Given the description of an element on the screen output the (x, y) to click on. 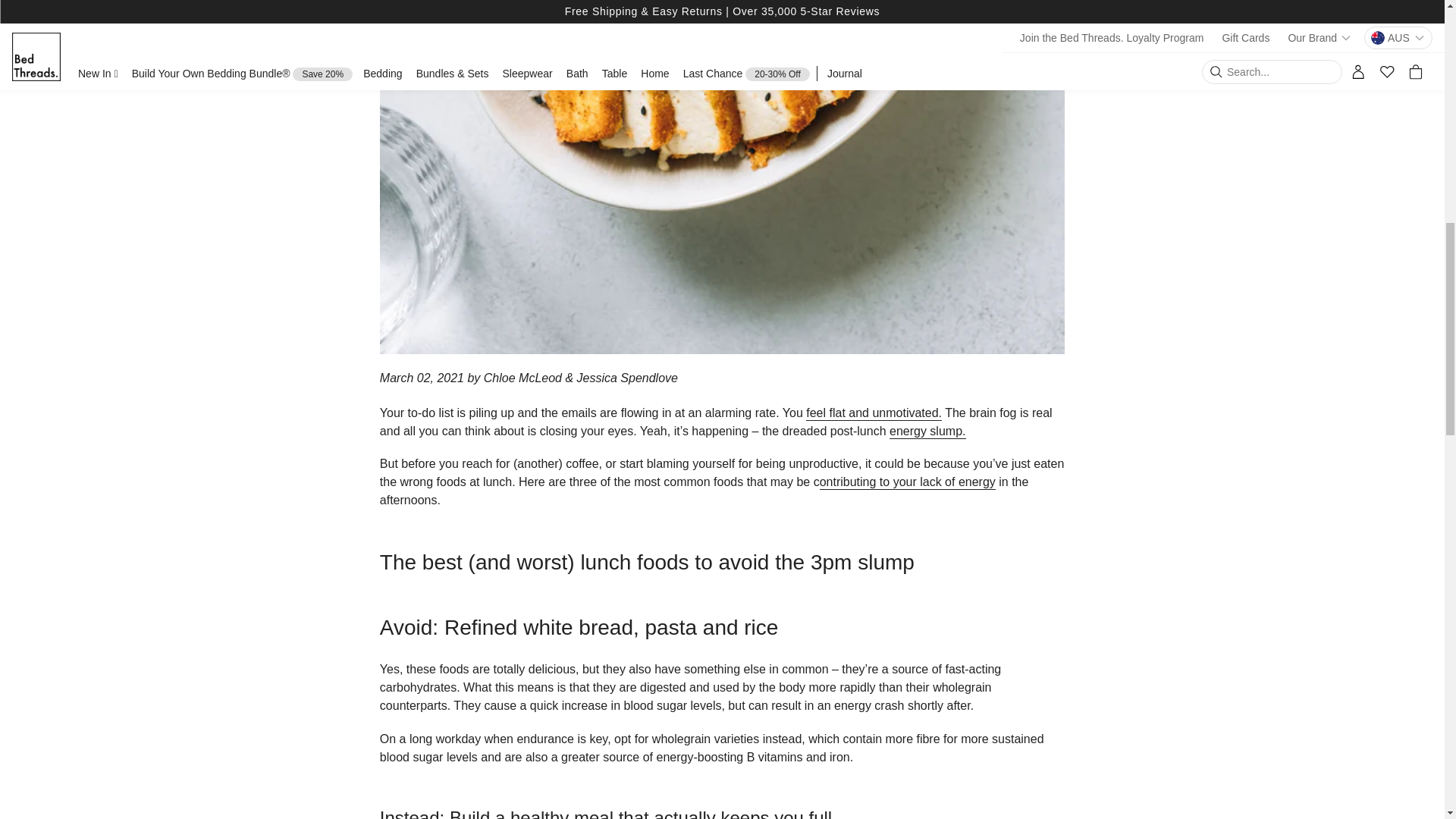
What to eat to improve your mood and mental health (927, 431)
3 Main Stages of Burnout, According to a Psychologist (874, 413)
